Given the description of an element on the screen output the (x, y) to click on. 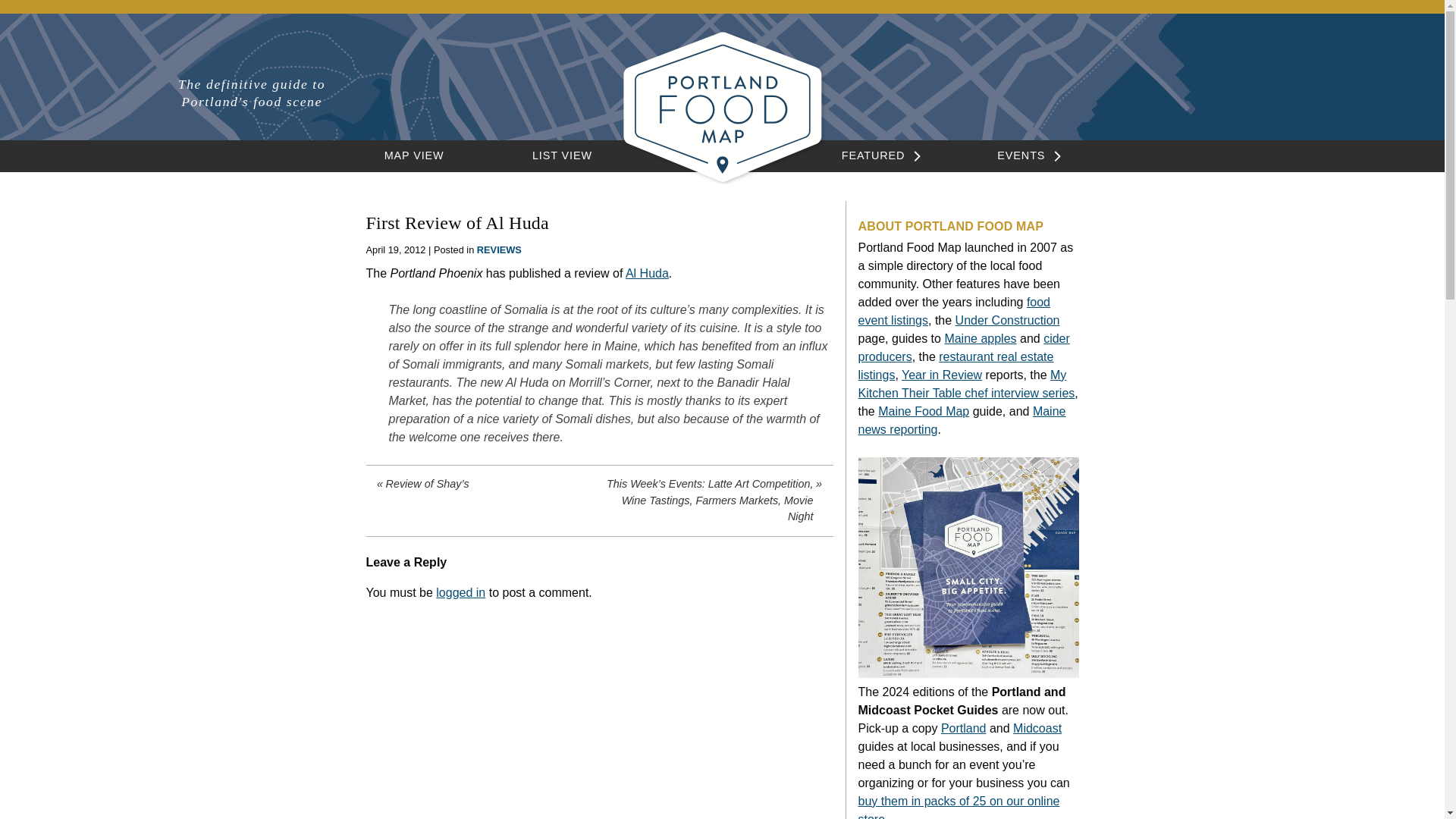
April 19, 2012 (395, 249)
Year in Review (941, 374)
REVIEWS (499, 249)
Maine Food Map (923, 410)
expand child menu (1053, 156)
Maine news reporting (962, 419)
food event listings (955, 310)
Under Construction (1007, 319)
Portland Food Map logo (721, 106)
expand child menu (913, 156)
Midcoast (1037, 727)
RSS icon (1251, 88)
My Kitchen Their Table chef interview series (967, 383)
Instagram icon (1196, 88)
cider producers (964, 347)
